Given the description of an element on the screen output the (x, y) to click on. 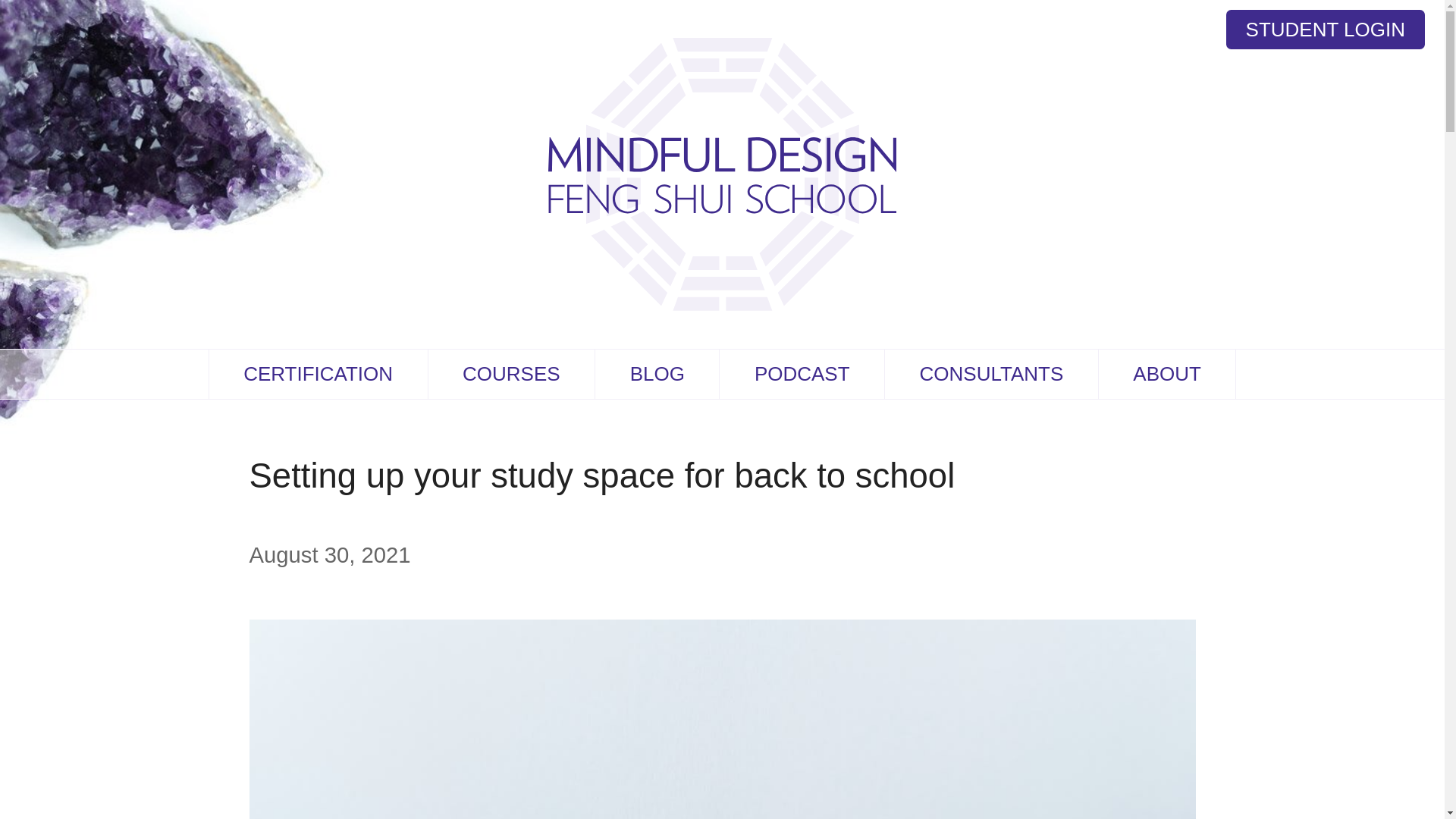
CONSULTANTS (991, 373)
PODCAST (801, 373)
STUDENT LOGIN (1325, 29)
BLOG (657, 373)
CERTIFICATION (318, 373)
COURSES (511, 373)
ABOUT (1167, 373)
